Given the description of an element on the screen output the (x, y) to click on. 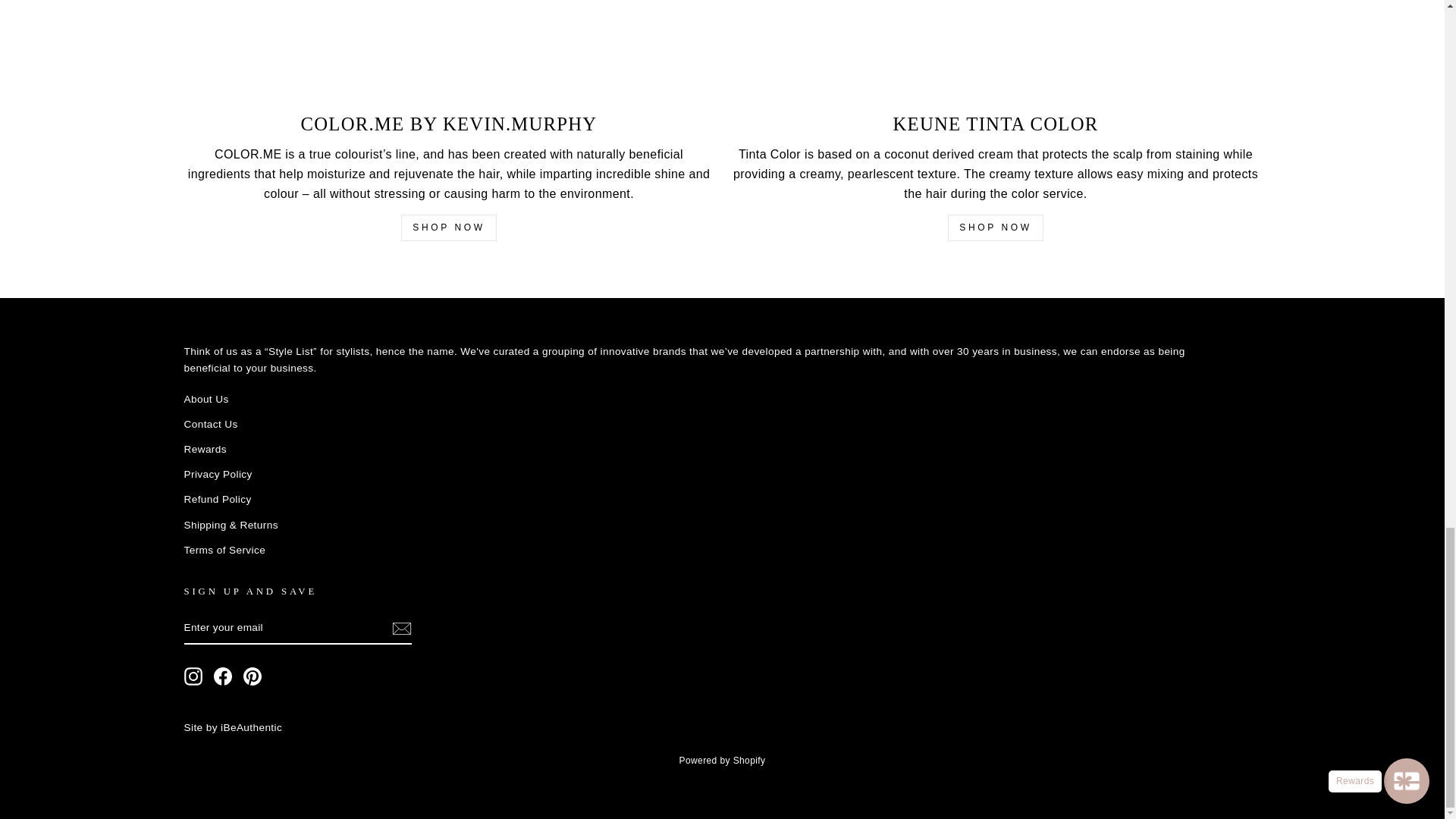
StyList By Premier Beauty on Pinterest (251, 676)
StyList By Premier Beauty on Facebook (222, 676)
StyList By Premier Beauty on Instagram (192, 676)
instagram (192, 676)
icon-email (400, 628)
